Given the description of an element on the screen output the (x, y) to click on. 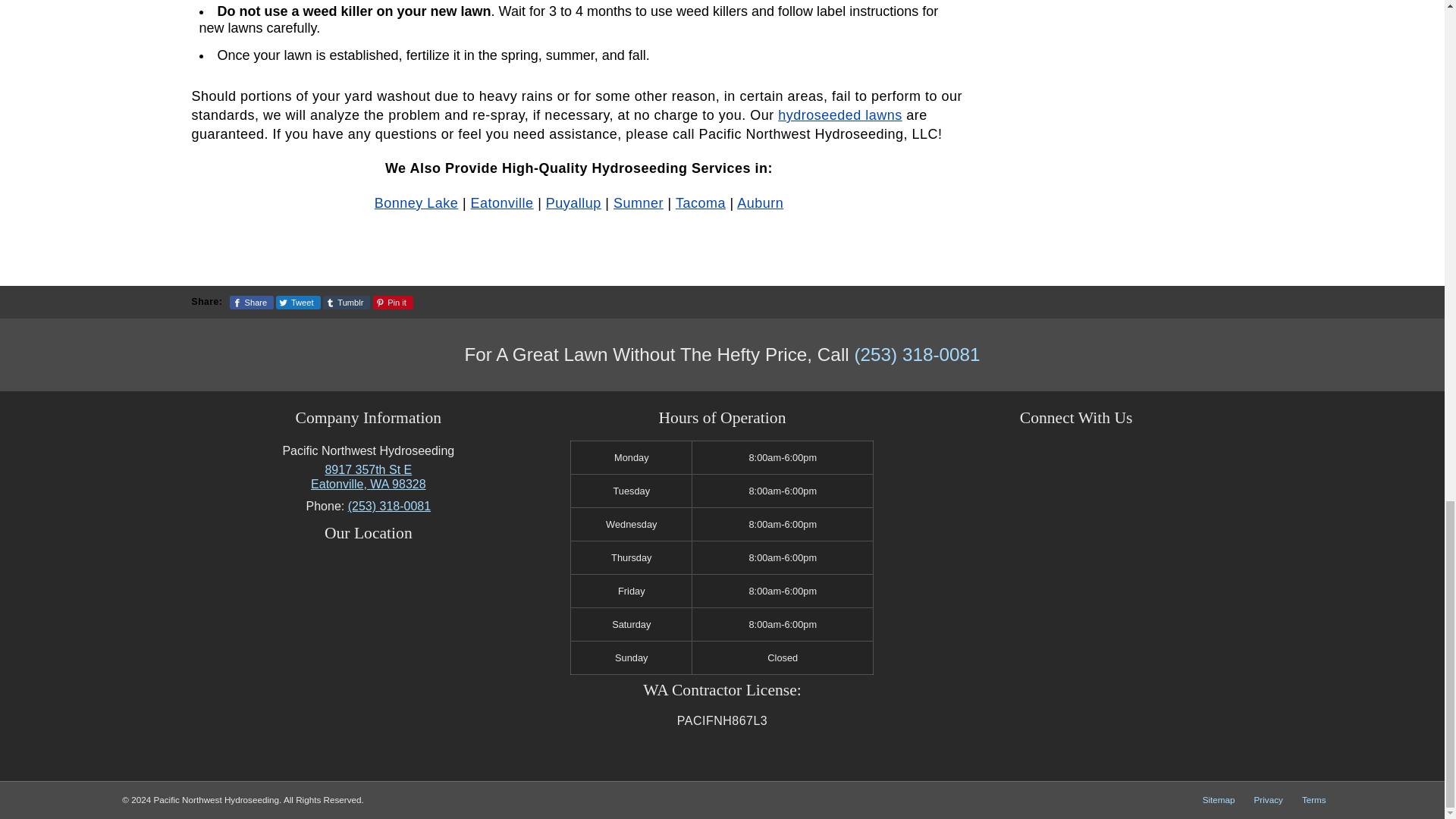
Bonney Lake (416, 202)
Share (251, 302)
Pin it (392, 302)
Tacoma (700, 202)
Tumblr (347, 302)
Puyallup (573, 202)
Eatonville (502, 202)
Tweet (298, 302)
hydroseeded lawns (839, 114)
Sumner (637, 202)
Facebook (368, 476)
Sitemap (1059, 454)
Terms (1218, 800)
Privacy (1313, 800)
